Given the description of an element on the screen output the (x, y) to click on. 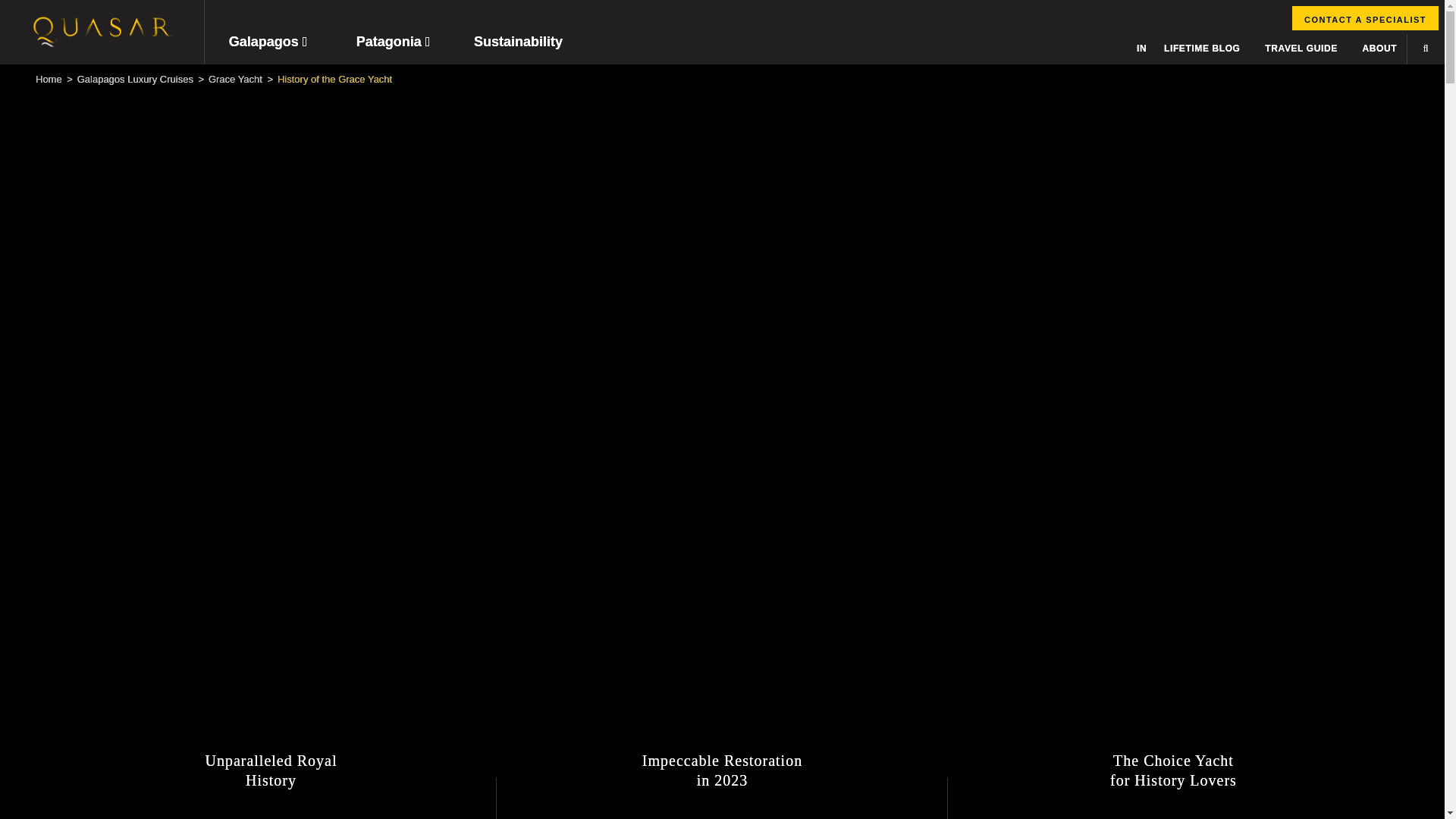
Quasar Expeditions (722, 770)
